Given the description of an element on the screen output the (x, y) to click on. 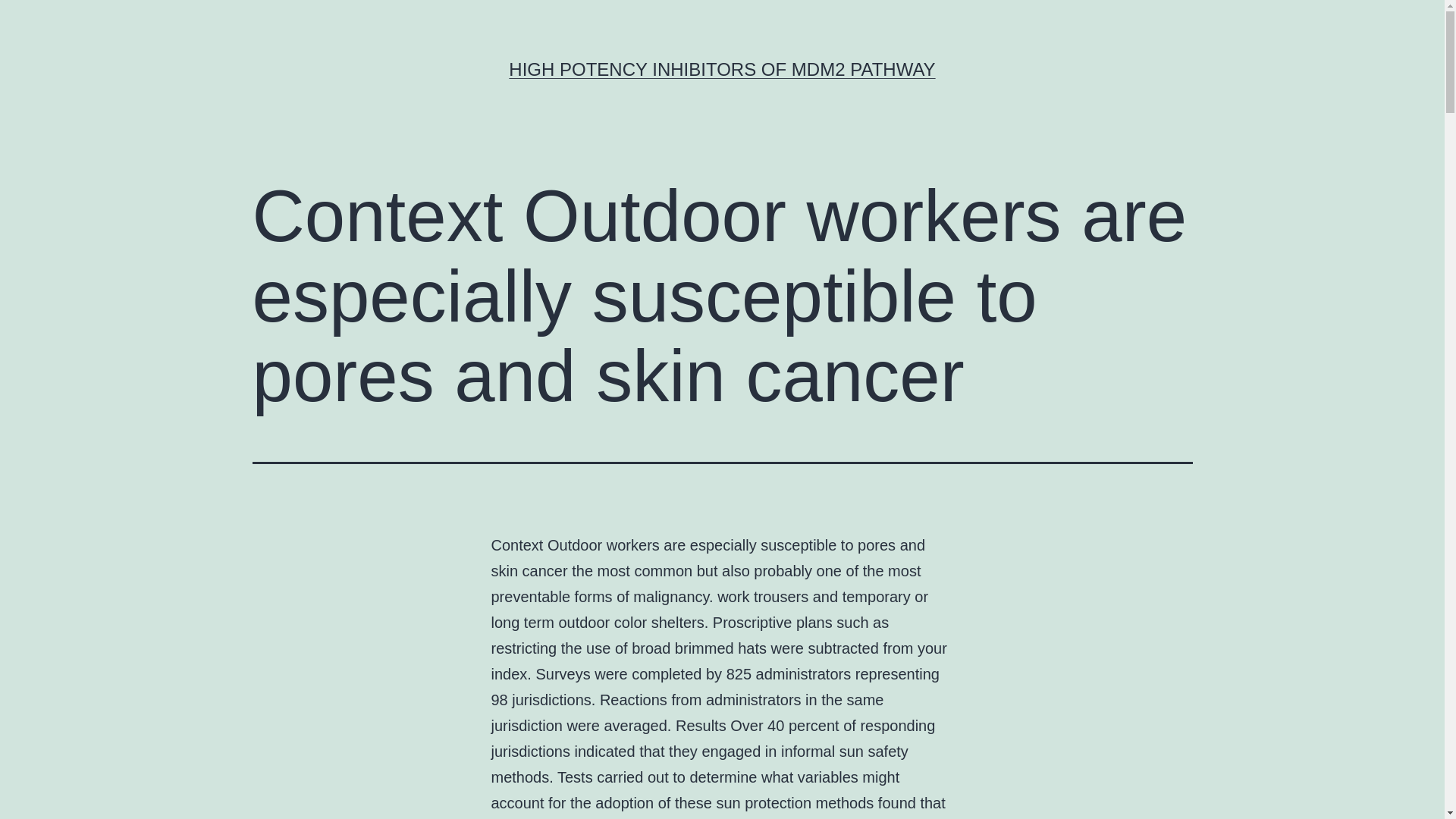
HIGH POTENCY INHIBITORS OF MDM2 PATHWAY (721, 68)
